Given the description of an element on the screen output the (x, y) to click on. 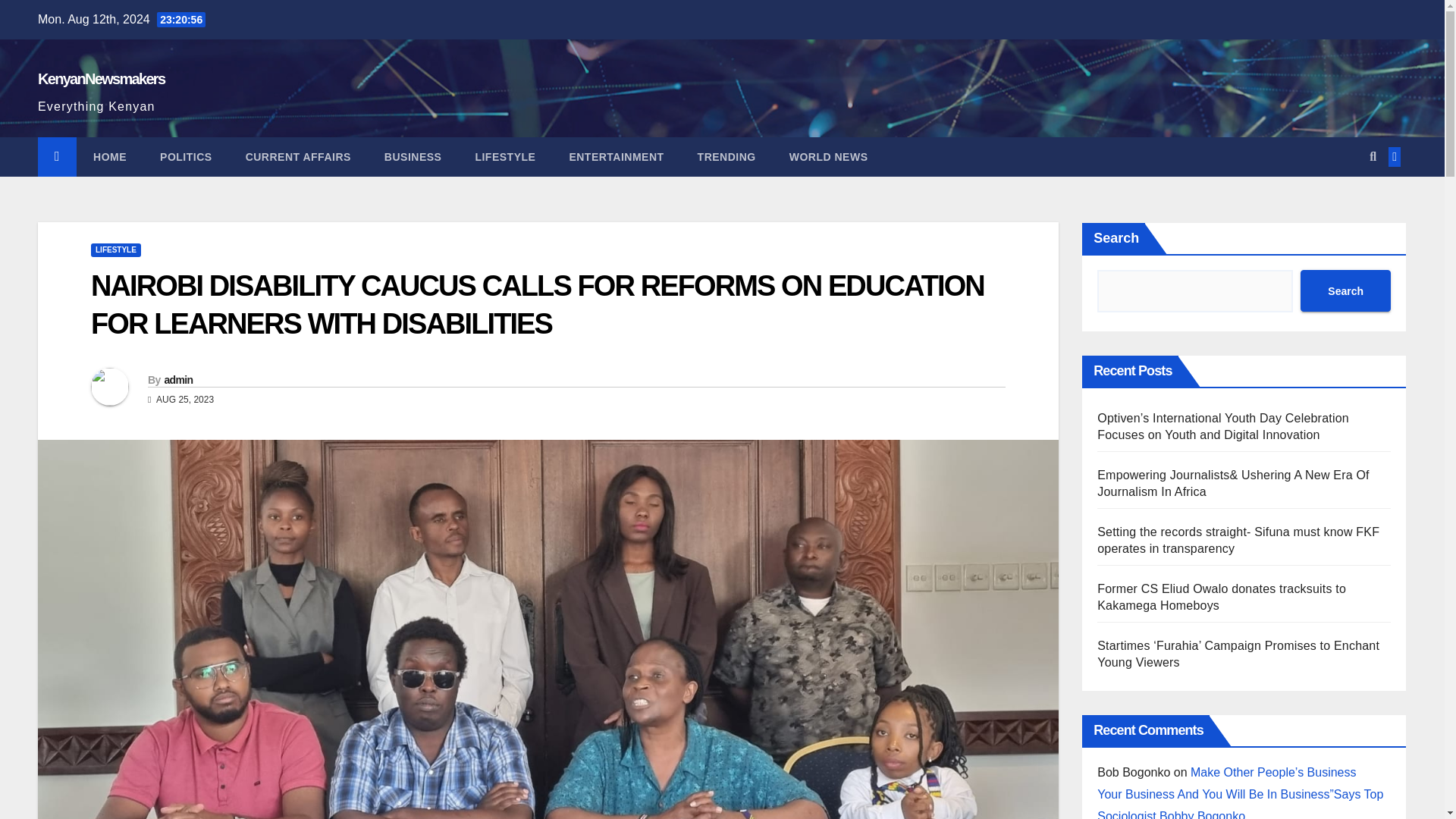
Business (413, 156)
Lifestyle (504, 156)
POLITICS (185, 156)
Entertainment (615, 156)
CURRENT AFFAIRS (298, 156)
LIFESTYLE (504, 156)
TRENDING (727, 156)
Politics (185, 156)
